Given the description of an element on the screen output the (x, y) to click on. 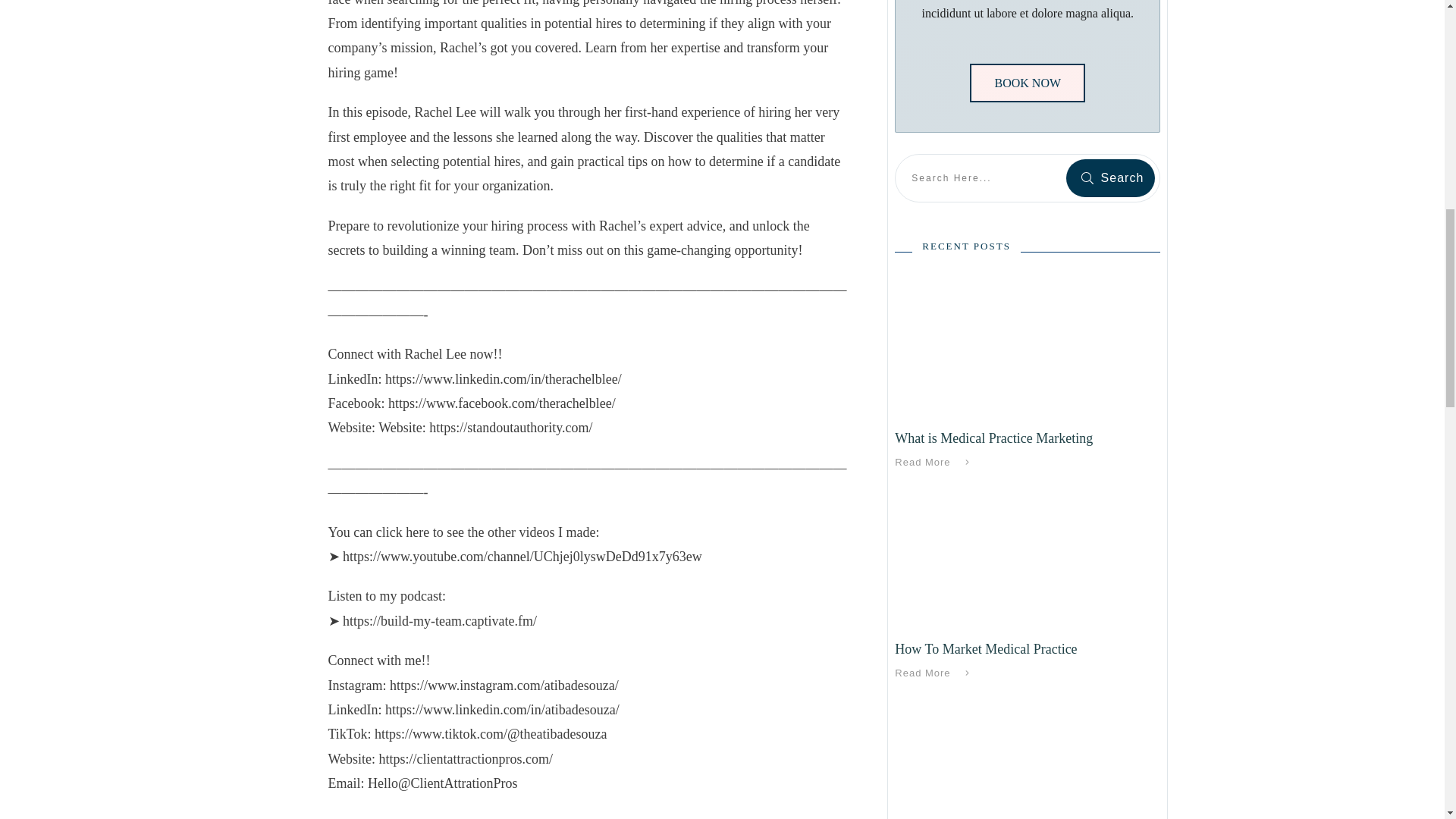
Search (1110, 177)
How To Market Medical Practice (986, 648)
BOOK NOW (1026, 82)
Read More (935, 462)
How To Market Medical Practice (986, 648)
What is Medical Practice Marketing (994, 437)
Read More (935, 672)
What is Medical Practice Marketing (994, 437)
